Given the description of an element on the screen output the (x, y) to click on. 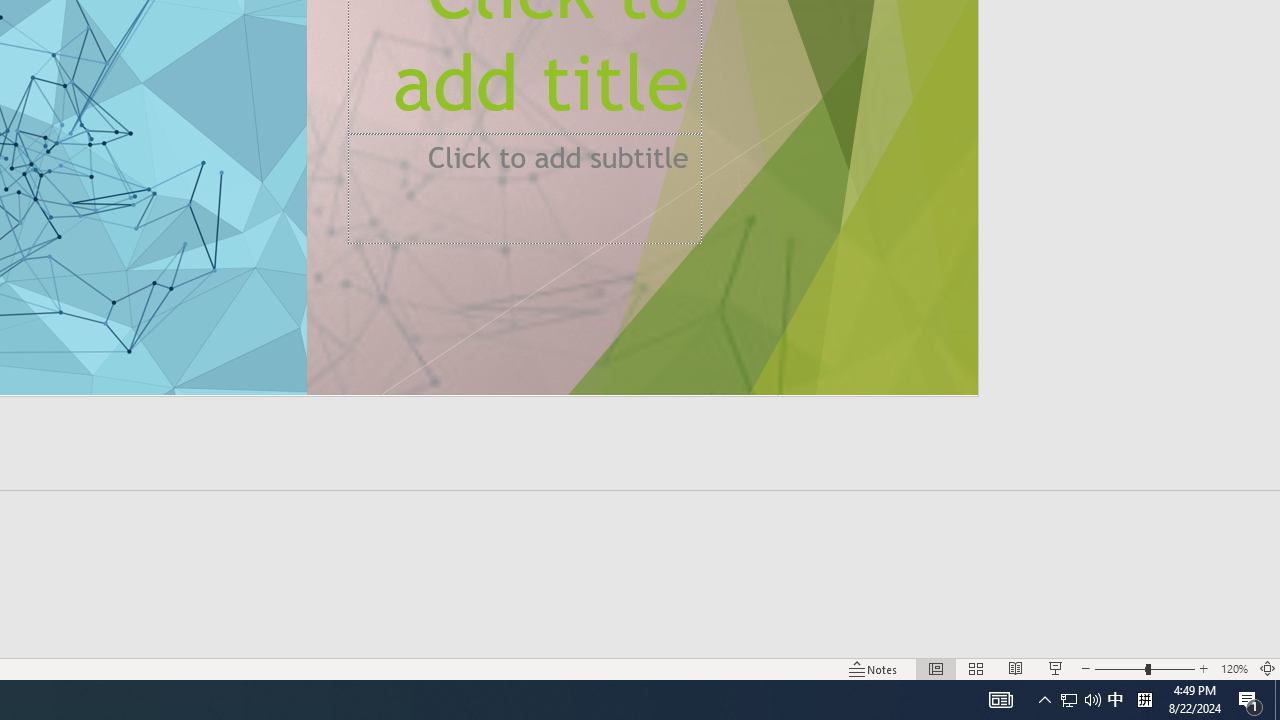
Zoom 120% (1234, 668)
